Given the description of an element on the screen output the (x, y) to click on. 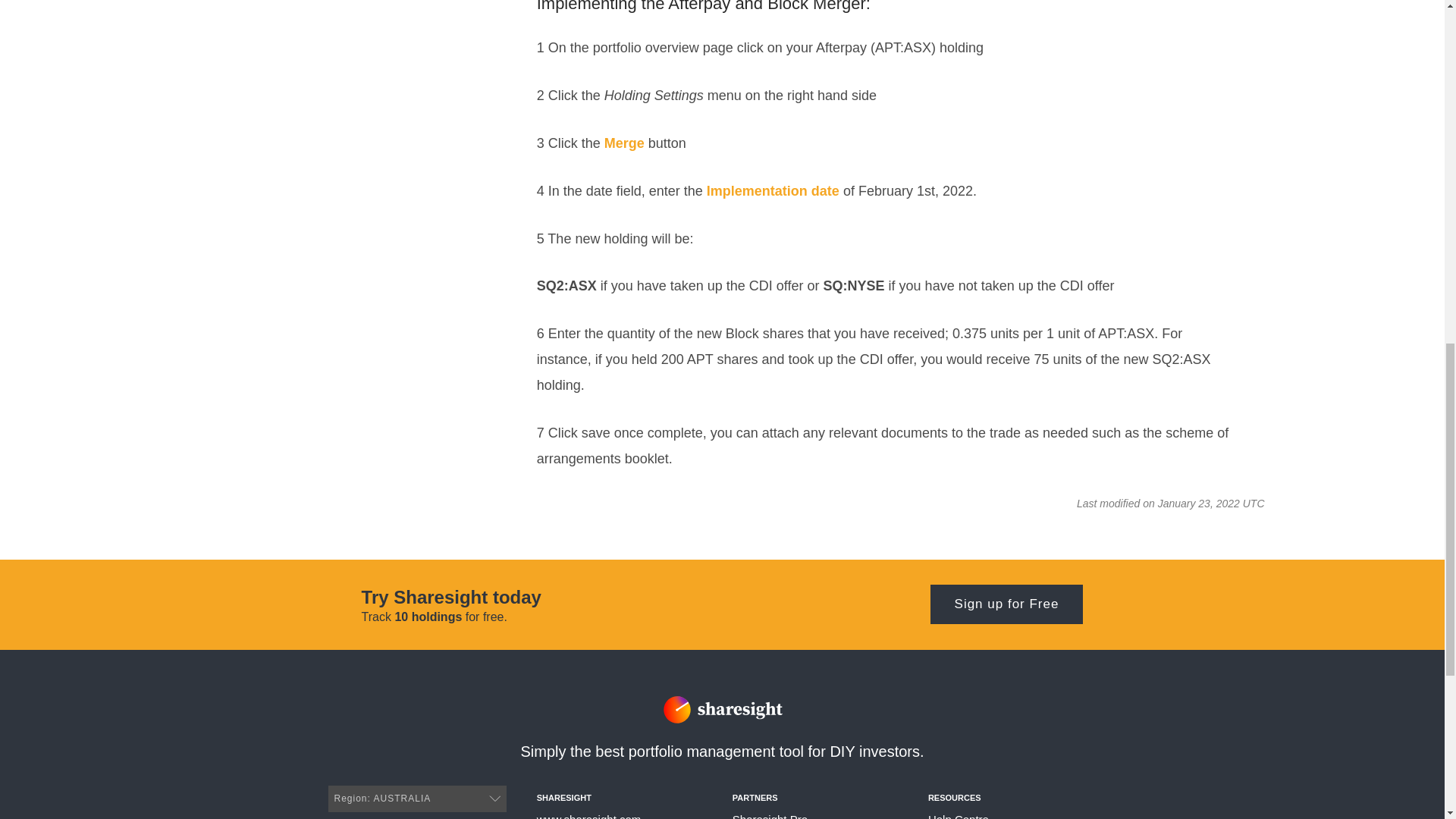
Sign up for Sharesight (1006, 604)
Sharesight Australia Help  (589, 816)
